Given the description of an element on the screen output the (x, y) to click on. 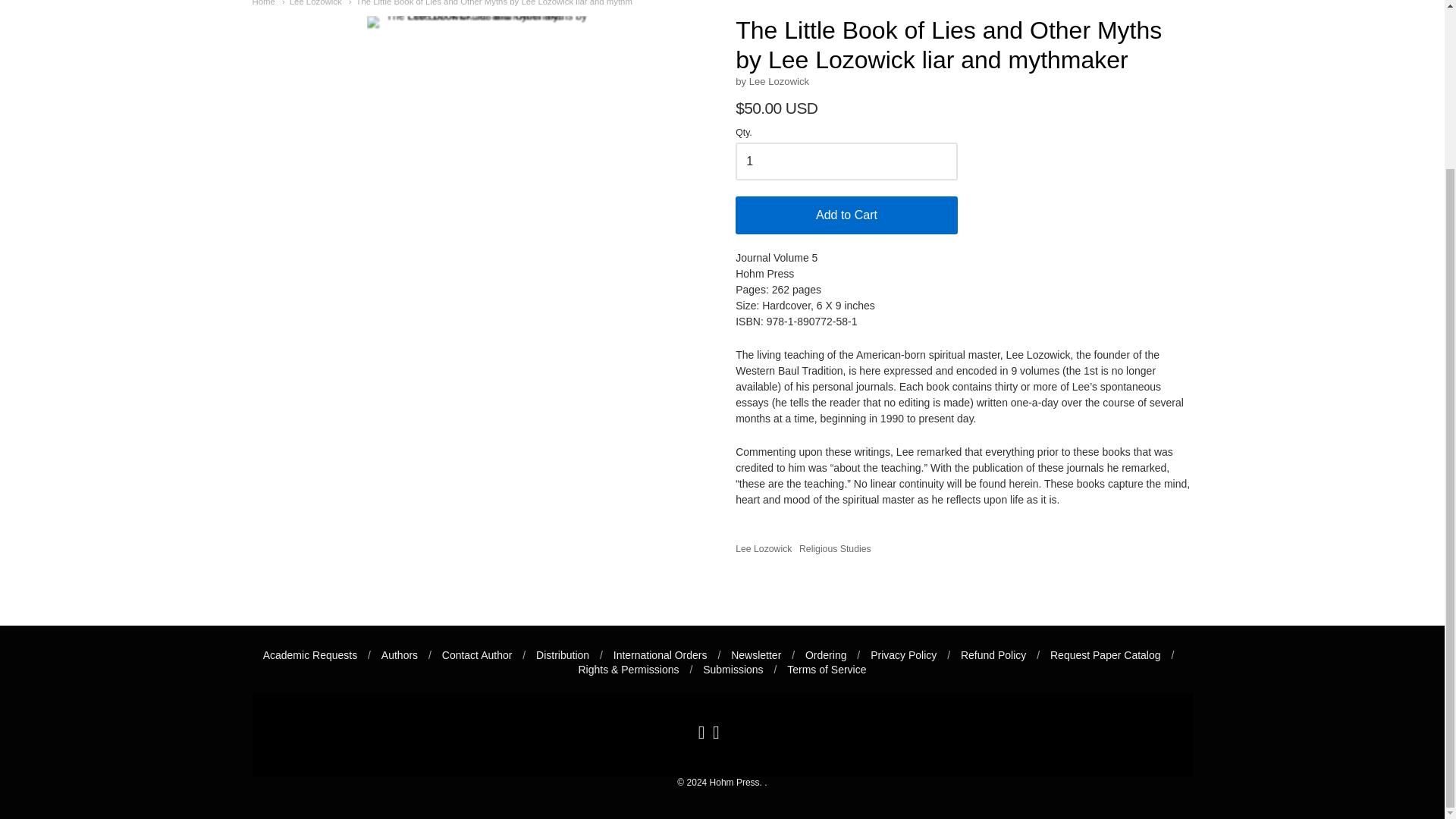
Academic Requests (310, 654)
Lee Lozowick (312, 2)
Home (263, 2)
Add to Cart (846, 215)
Show products matching tag Lee Lozowick (763, 548)
by Lee Lozowick (772, 81)
Distribution (562, 654)
Lee Lozowick (312, 2)
Authors (399, 654)
1 (846, 161)
Religious Studies (834, 548)
Show products matching tag Religious Studies (834, 548)
Contact Author (477, 654)
International Orders (659, 654)
